Given the description of an element on the screen output the (x, y) to click on. 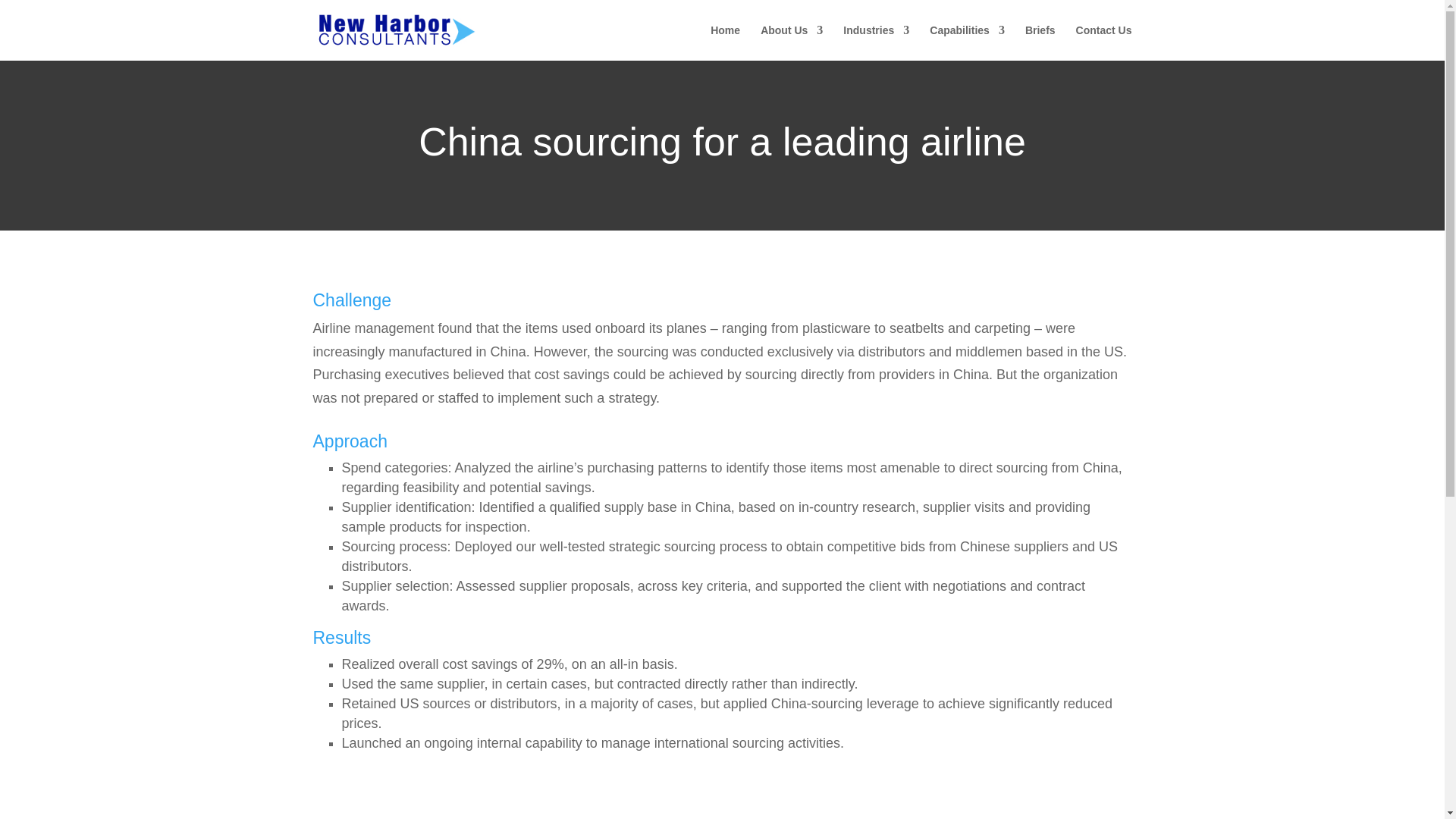
About Us (791, 42)
Contact Us (1103, 42)
Industries (875, 42)
Capabilities (967, 42)
